Given the description of an element on the screen output the (x, y) to click on. 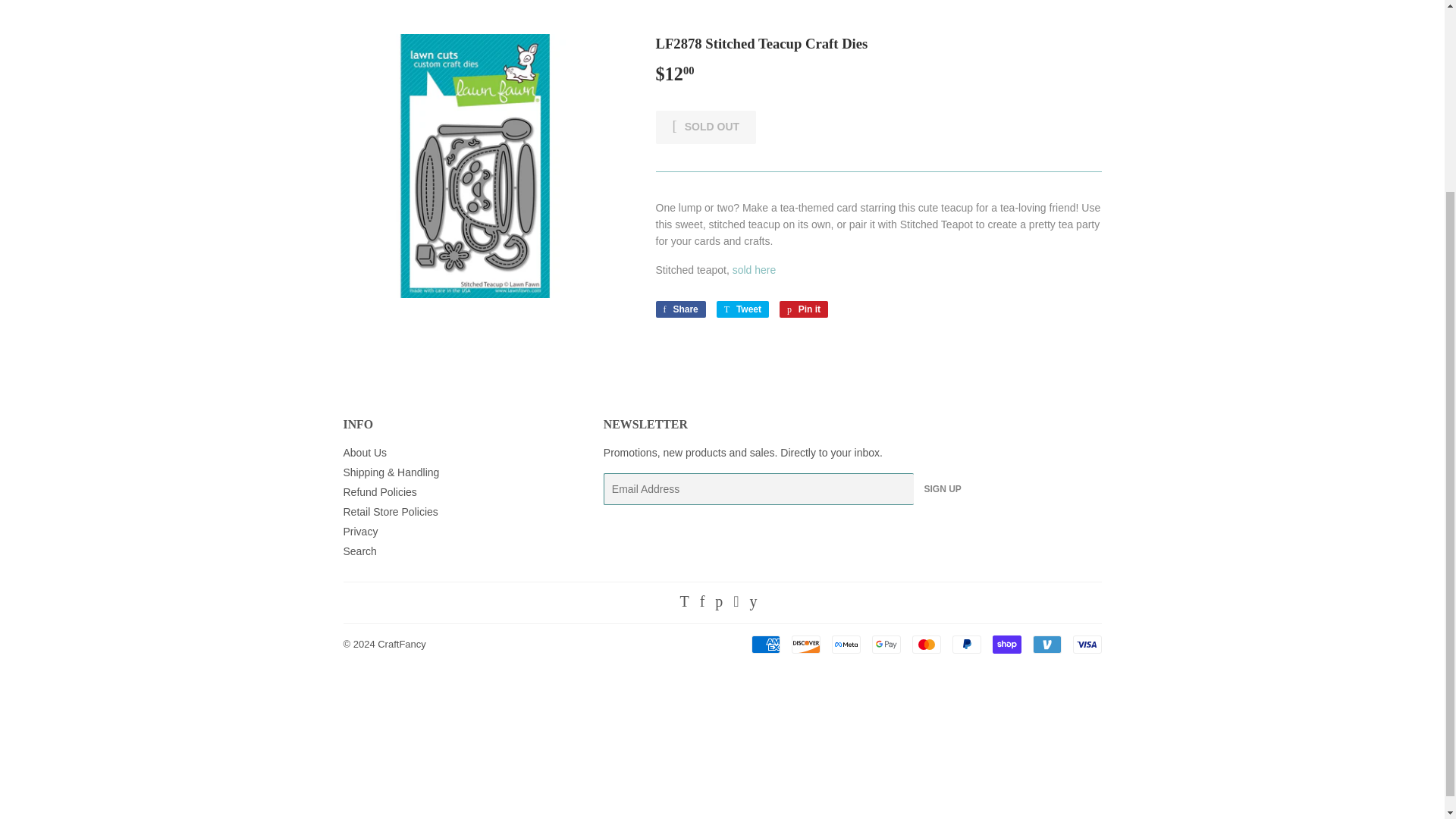
Pin on Pinterest (803, 309)
Venmo (1046, 644)
Shop Pay (1005, 644)
Meta Pay (845, 644)
Tweet on Twitter (742, 309)
Visa (1085, 644)
Google Pay (886, 644)
Mastercard (925, 644)
American Express (764, 644)
Discover (806, 644)
